Given the description of an element on the screen output the (x, y) to click on. 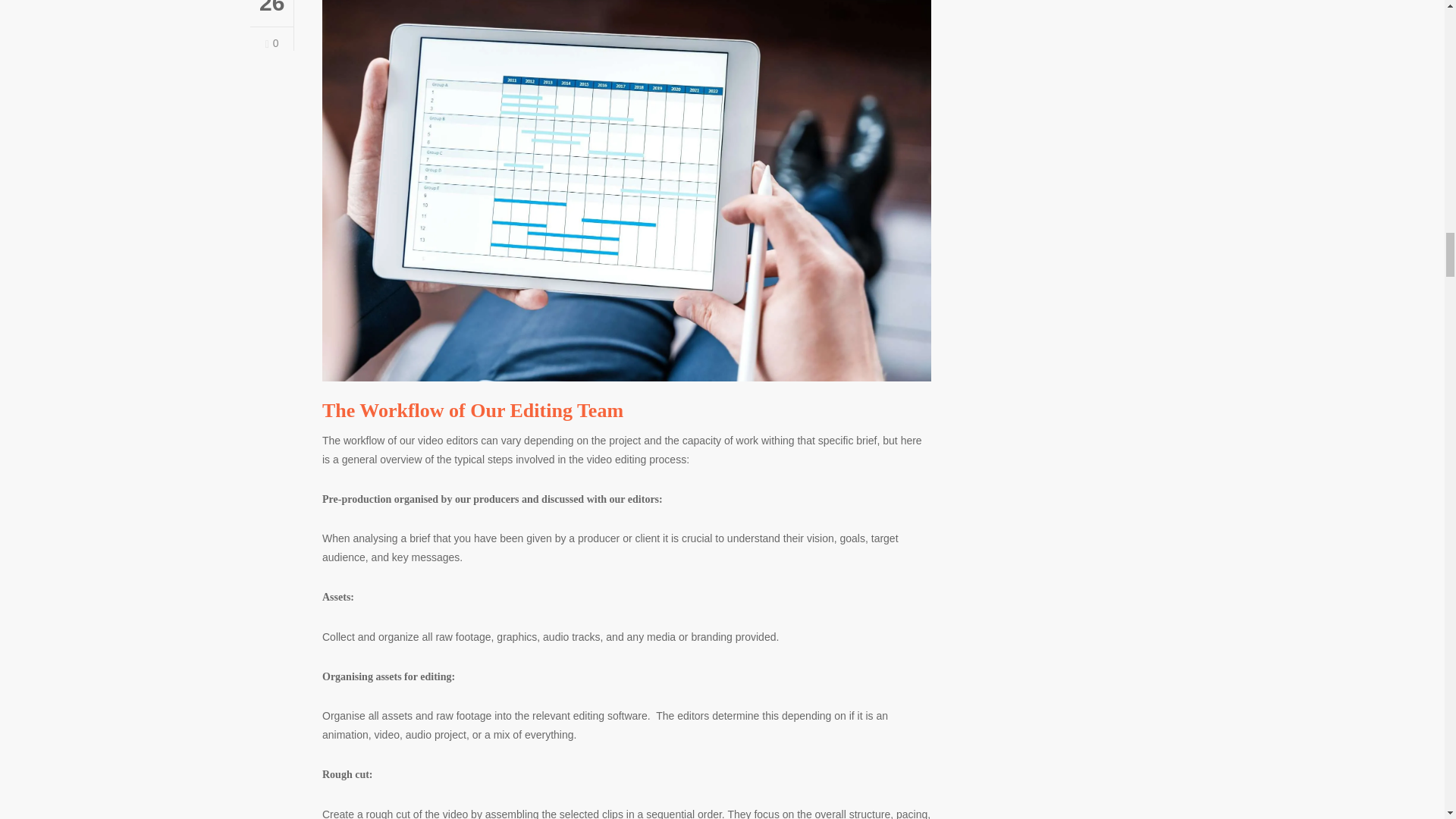
0 (271, 43)
Love this (271, 43)
The Workflow of Our Editing Team (472, 409)
